Given the description of an element on the screen output the (x, y) to click on. 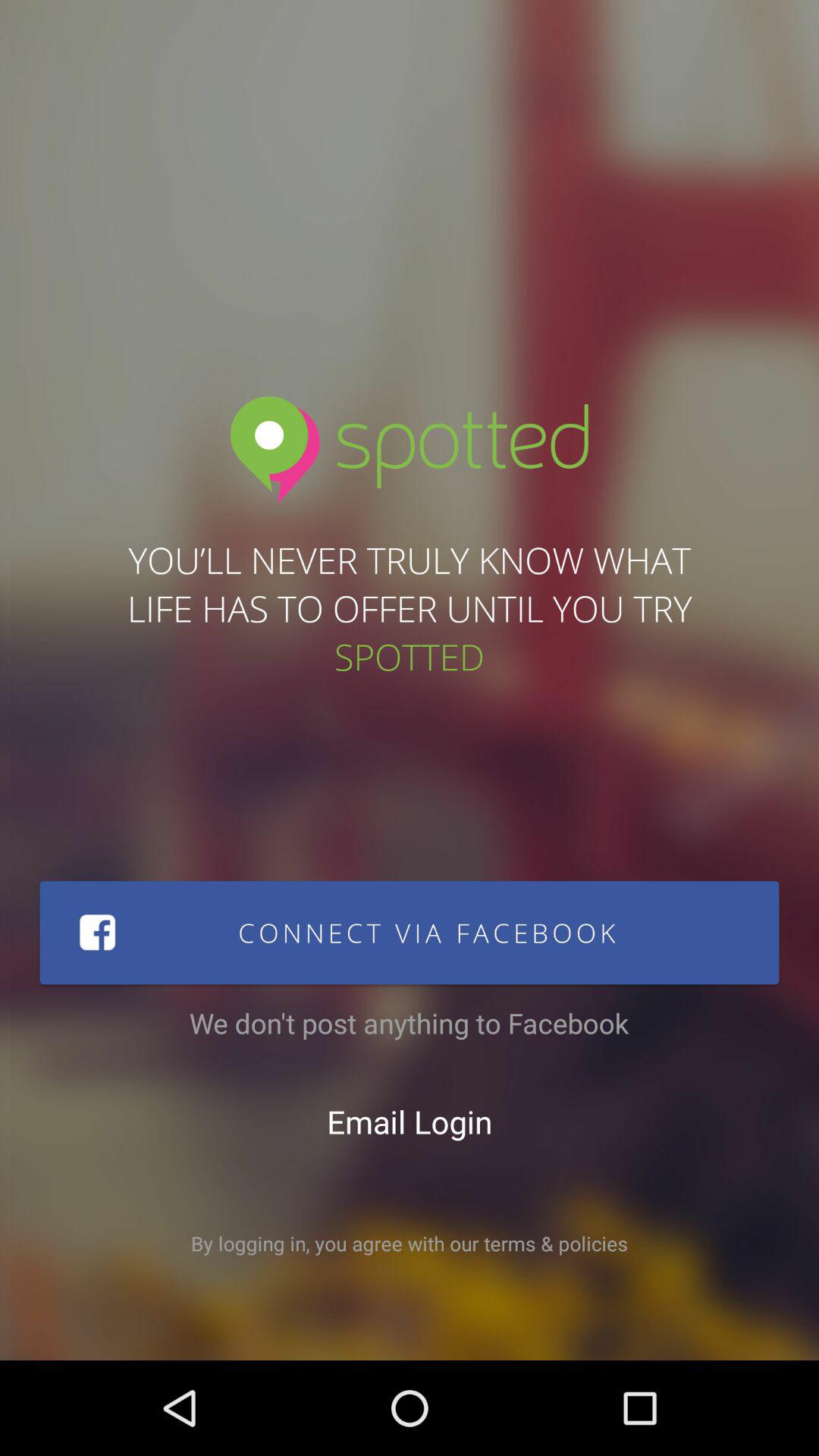
launch connect via facebook icon (409, 932)
